Given the description of an element on the screen output the (x, y) to click on. 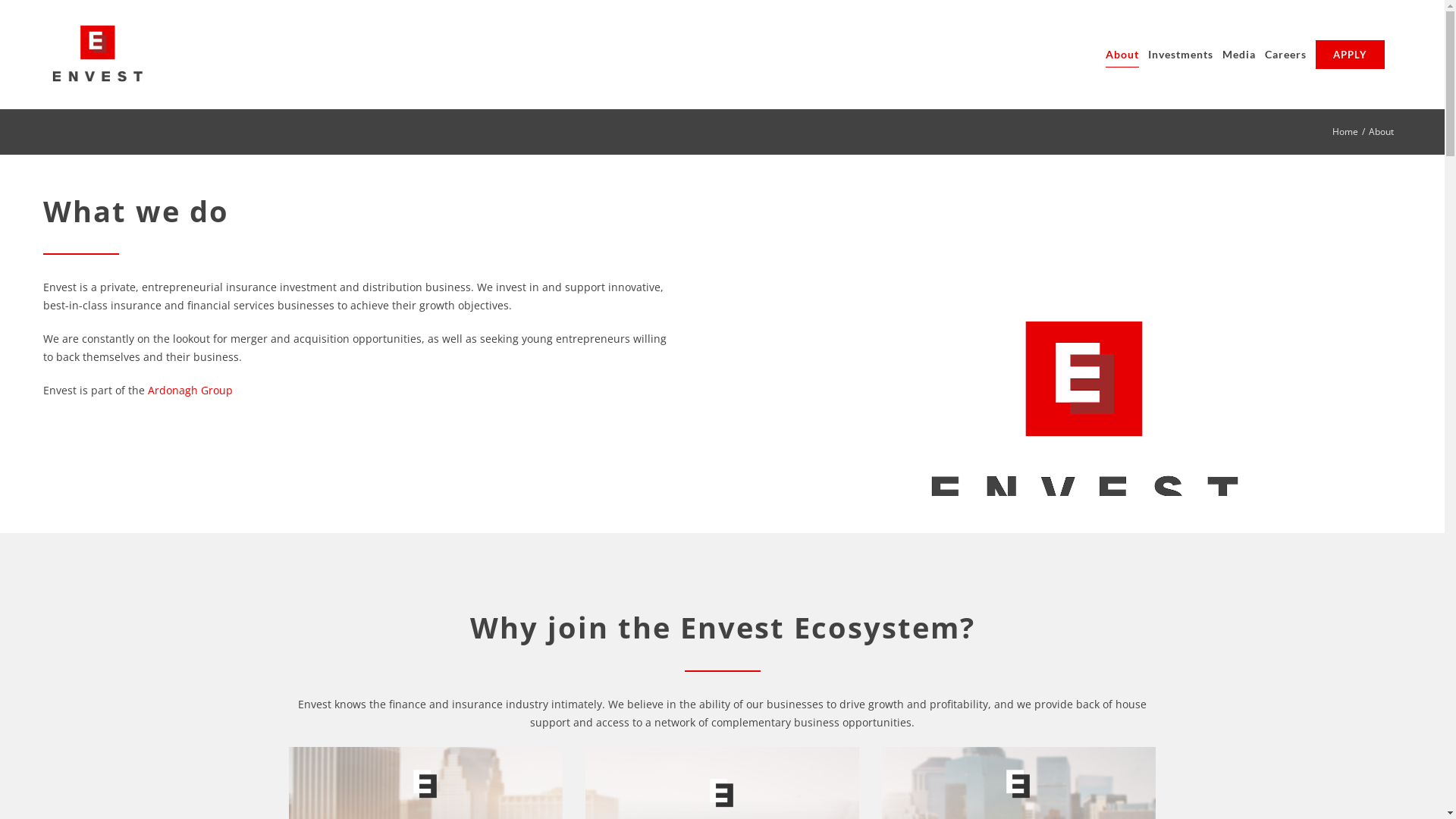
Careers Element type: text (1285, 54)
Ardonagh Group Element type: text (189, 389)
About Element type: text (1122, 54)
APPLY Element type: text (1349, 54)
Media Element type: text (1238, 54)
Investments Element type: text (1180, 54)
Home Element type: text (1345, 131)
